Given the description of an element on the screen output the (x, y) to click on. 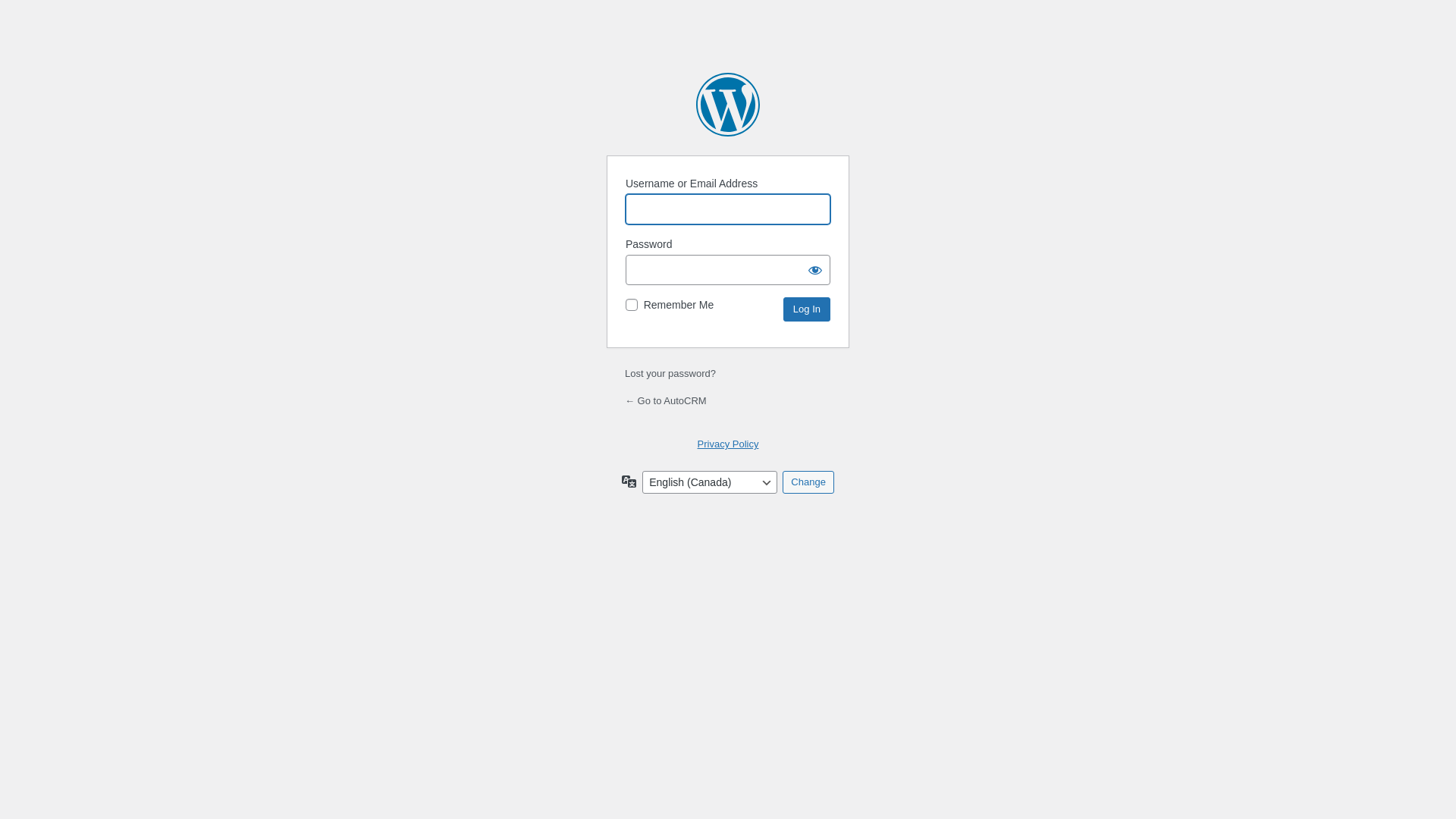
Log In Element type: text (806, 309)
Privacy Policy Element type: text (728, 443)
Change Element type: text (808, 481)
Lost your password? Element type: text (669, 373)
Powered by WordPress Element type: text (727, 104)
